Given the description of an element on the screen output the (x, y) to click on. 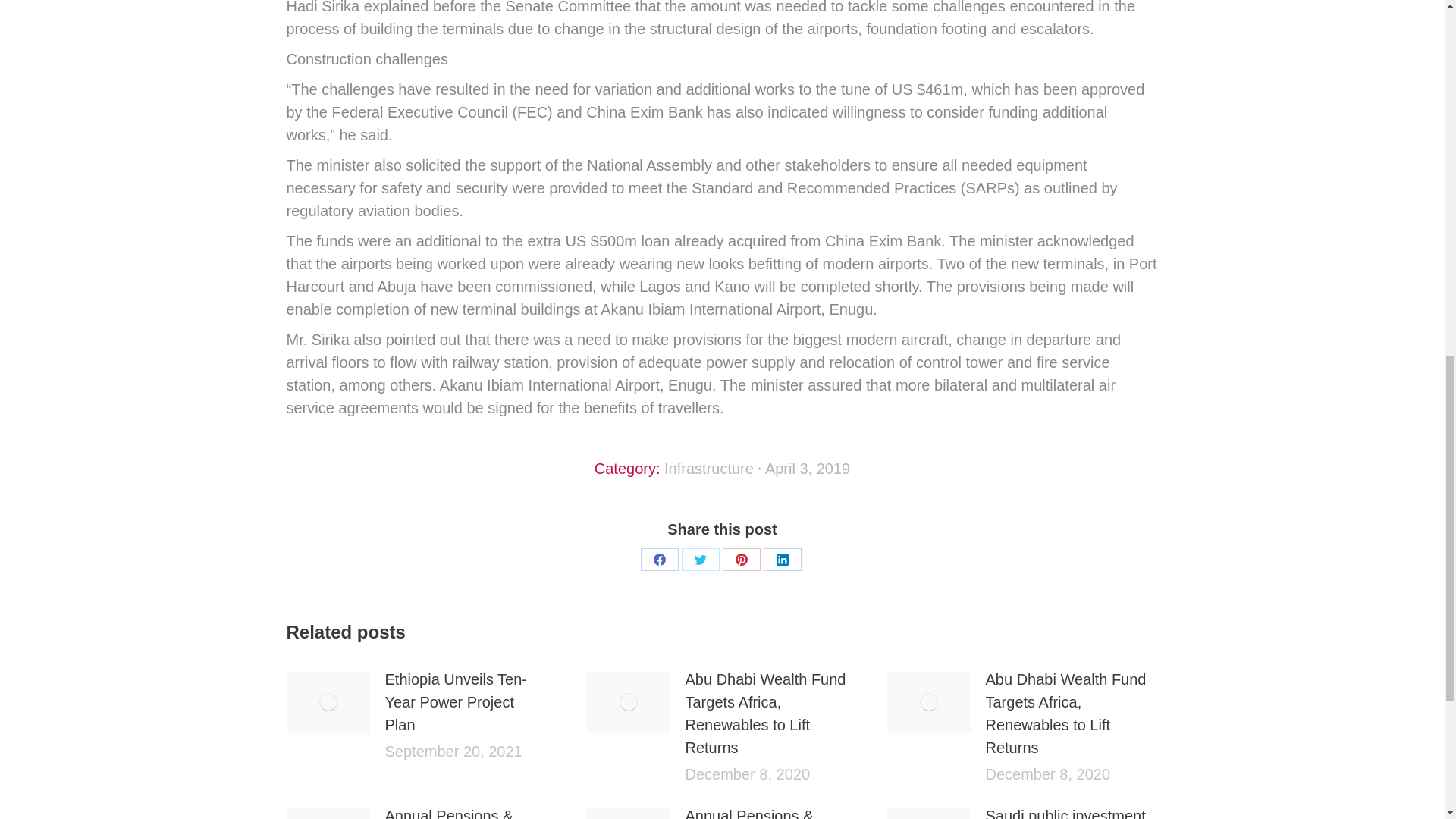
Facebook (659, 558)
9:12 am (807, 468)
Twitter (700, 558)
